Given the description of an element on the screen output the (x, y) to click on. 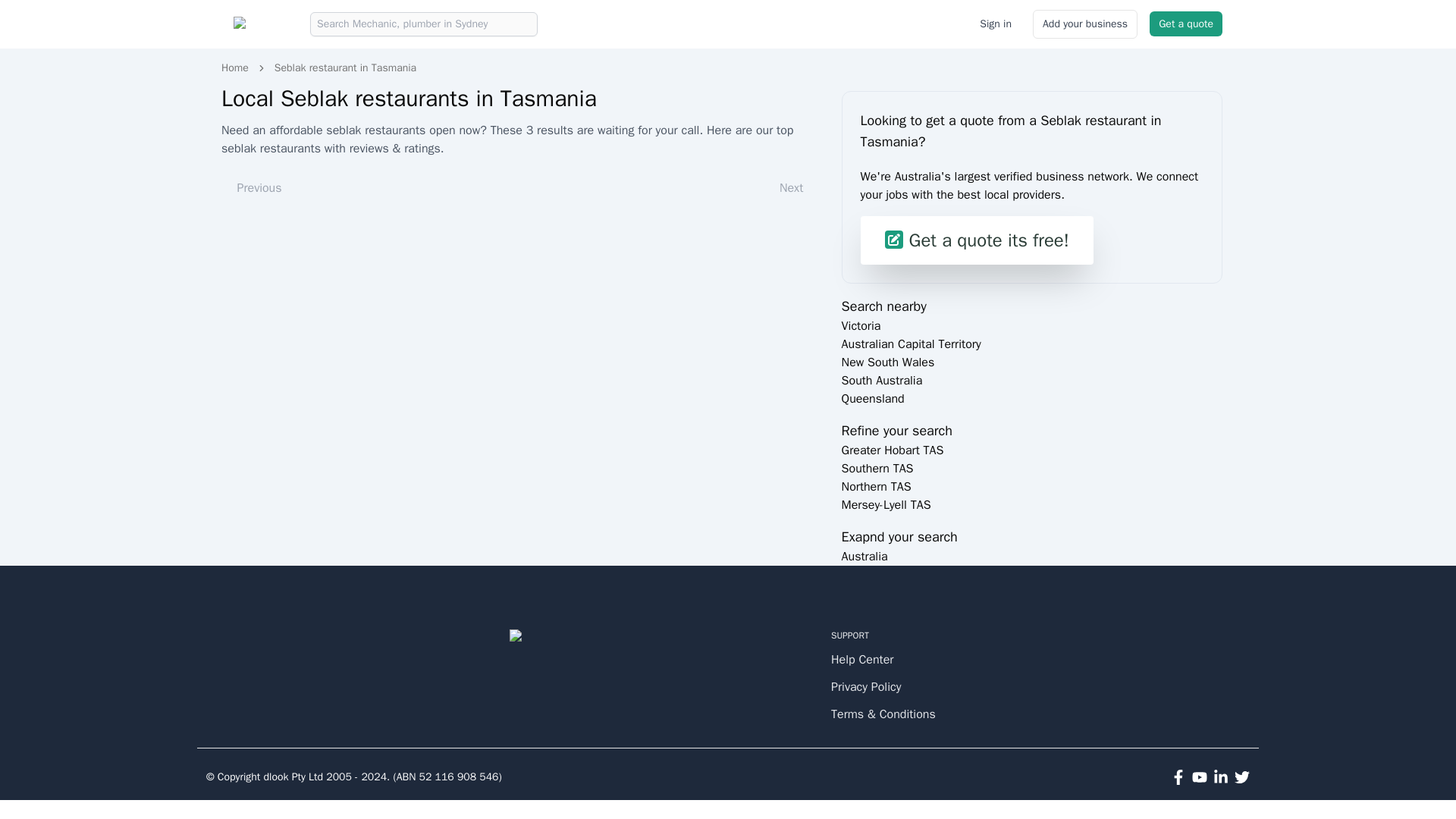
South Australia (882, 380)
Help Center (888, 659)
Go to dlook's Facebook Page (1178, 776)
Go to dlook's LinkedIn (1220, 776)
Victoria (860, 325)
Home (234, 68)
Sign in (995, 23)
Mersey-Lyell TAS (886, 504)
Northern TAS (876, 486)
Add your business (1084, 23)
Queensland (872, 398)
Get a quote (1186, 23)
Australian Capital Territory (911, 344)
Go to dlook's twitter (1241, 776)
Privacy Policy (888, 687)
